Given the description of an element on the screen output the (x, y) to click on. 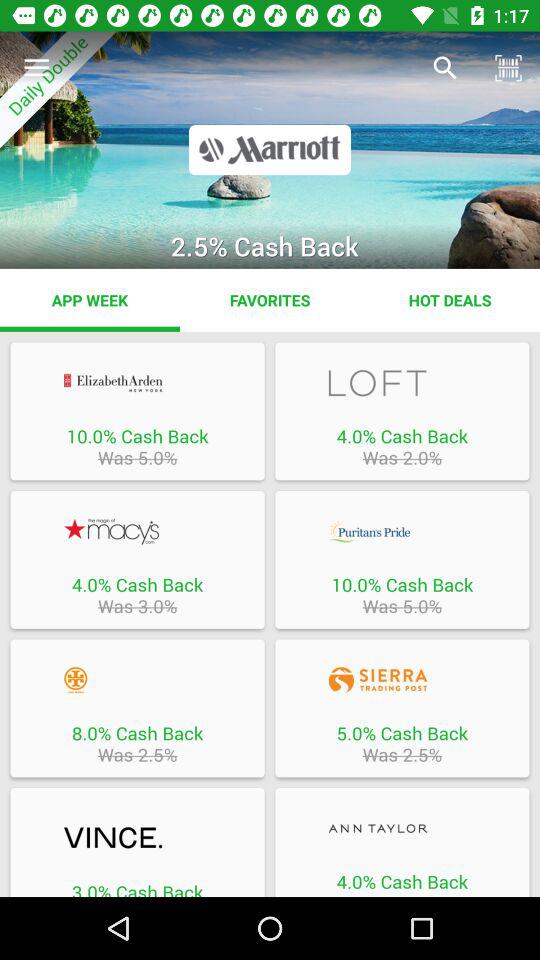
go to website (402, 531)
